Given the description of an element on the screen output the (x, y) to click on. 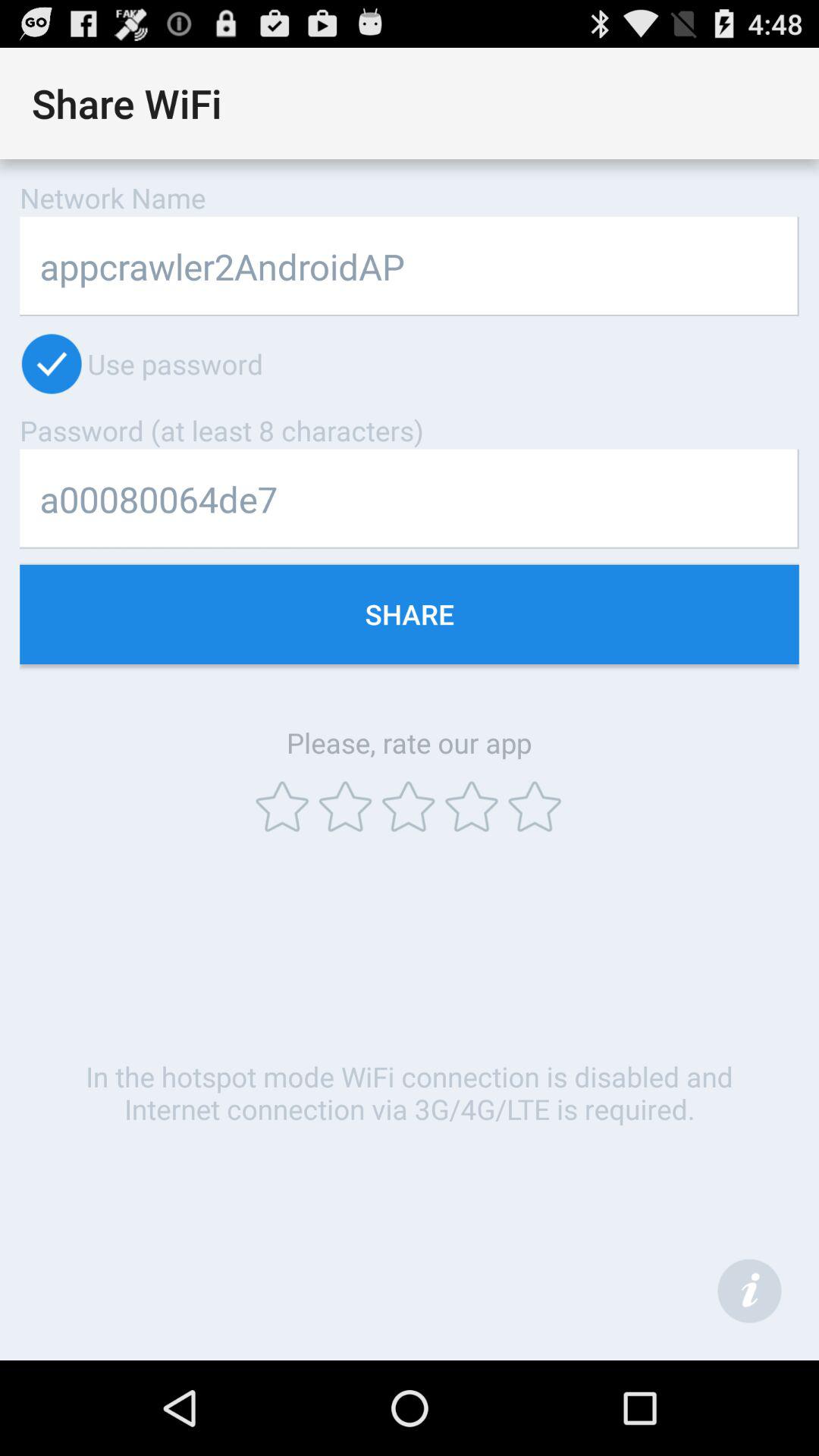
scroll until the appcrawler2androidap icon (409, 266)
